Given the description of an element on the screen output the (x, y) to click on. 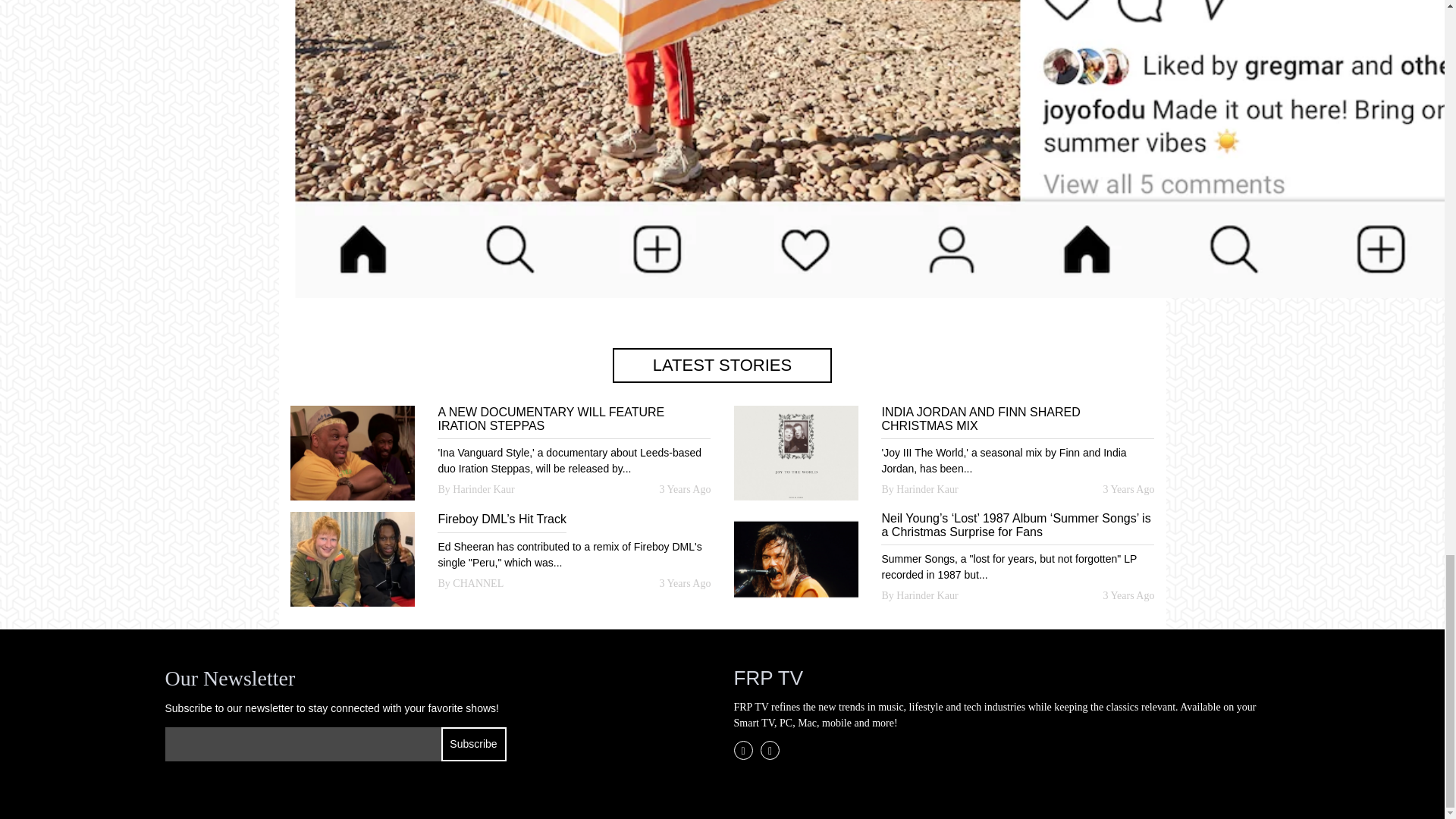
Subscribe (473, 744)
